Given the description of an element on the screen output the (x, y) to click on. 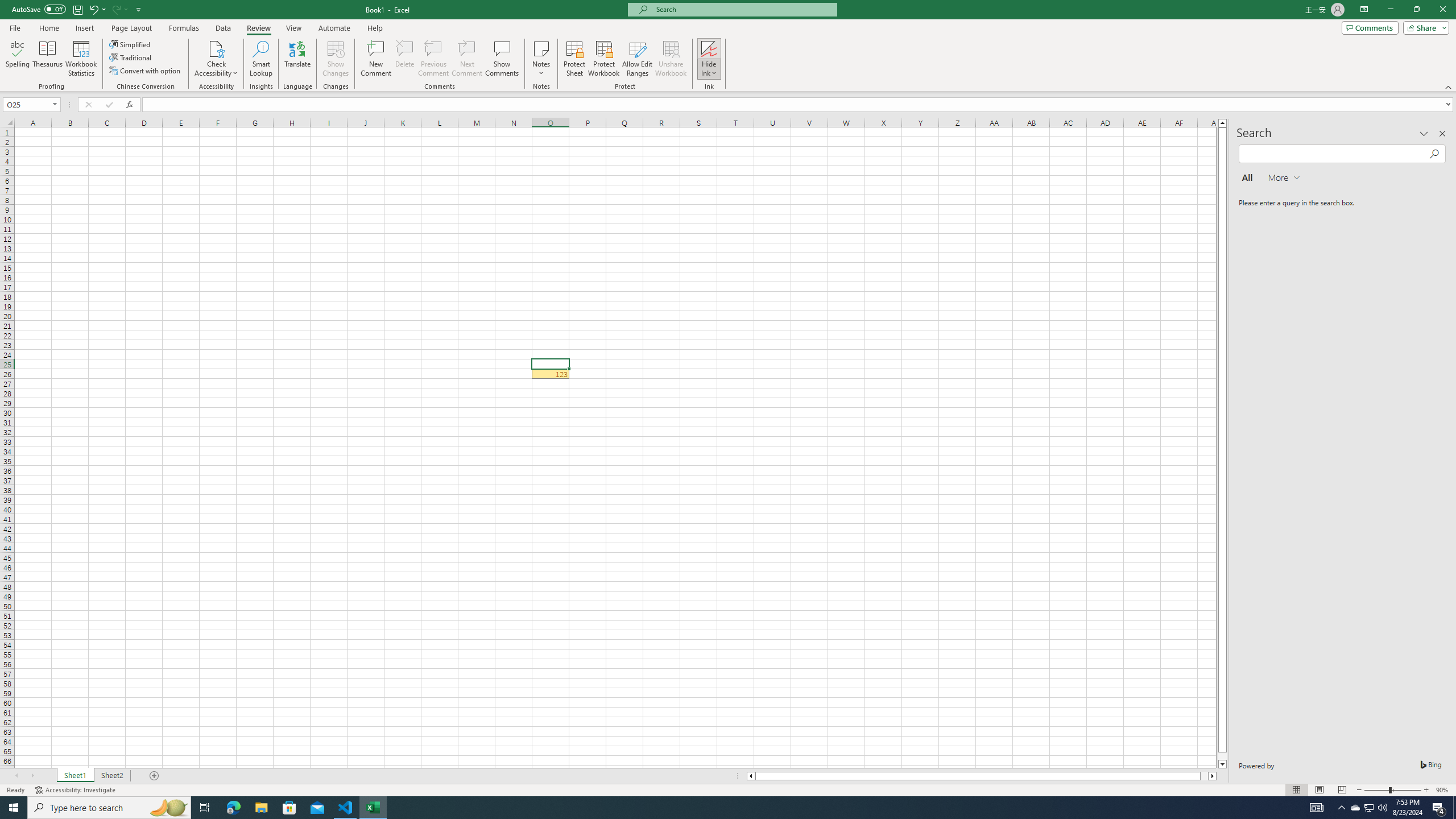
Comments (1369, 27)
Line up (1222, 122)
Allow Edit Ranges (637, 58)
Insert (83, 28)
Redo (119, 9)
Automate (334, 28)
Page Layout (1318, 790)
Hide Ink (708, 58)
Workbook Statistics (81, 58)
Smart Lookup (260, 58)
Share (1423, 27)
Collapse the Ribbon (1448, 86)
Quick Access Toolbar (77, 9)
